Given the description of an element on the screen output the (x, y) to click on. 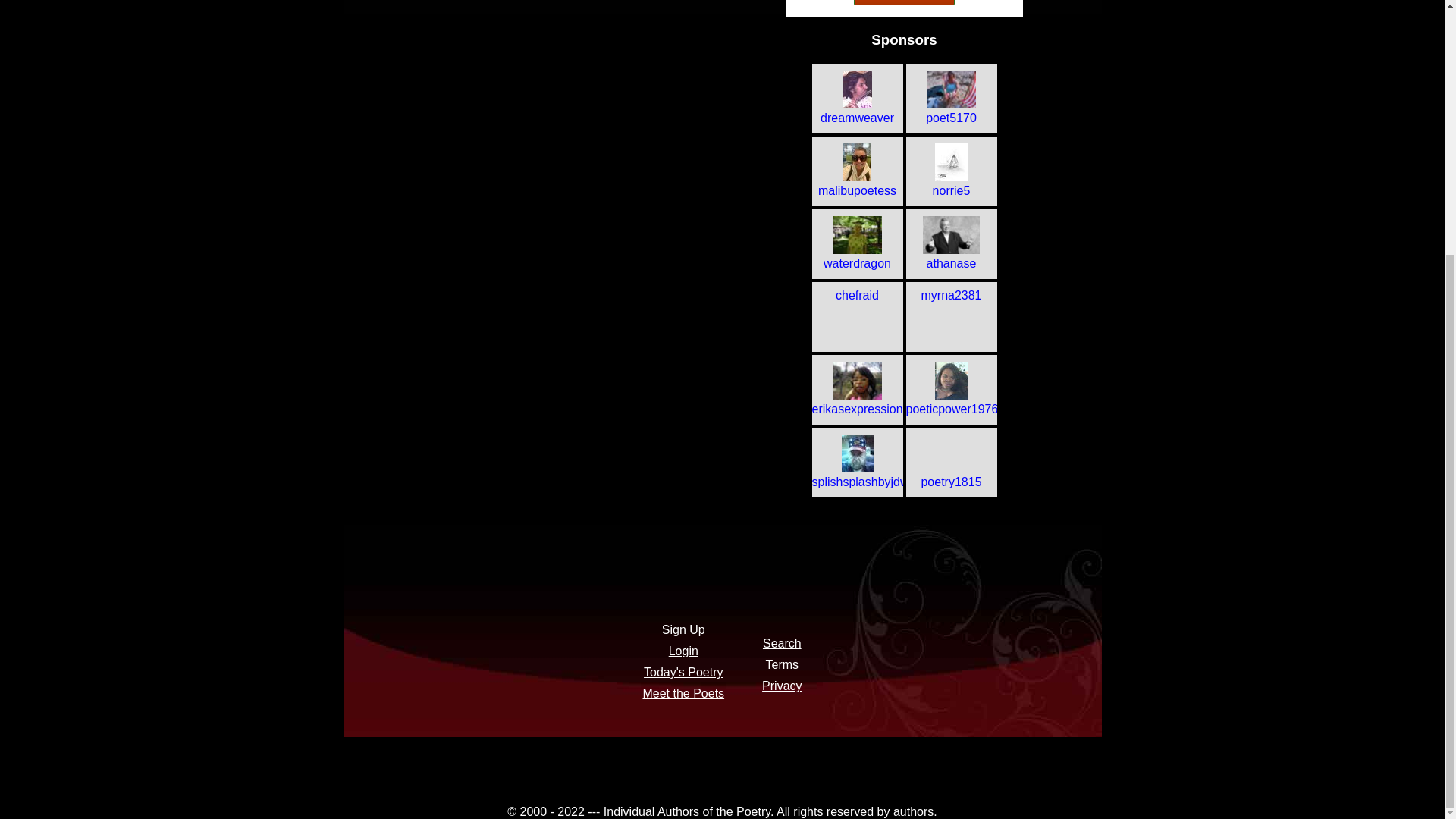
poet5170 (950, 111)
poetry1815 (950, 474)
Today's Poetry (682, 671)
Sign Up (683, 629)
malibupoetess (856, 184)
Privacy (781, 685)
Meet the Poets (682, 693)
chefraid (856, 295)
poeticpower1976 (950, 402)
norrie5 (950, 184)
athanase (950, 257)
Terms (782, 664)
Search (782, 643)
splishsplashbyjdw (856, 474)
dreamweaver (856, 111)
